Given the description of an element on the screen output the (x, y) to click on. 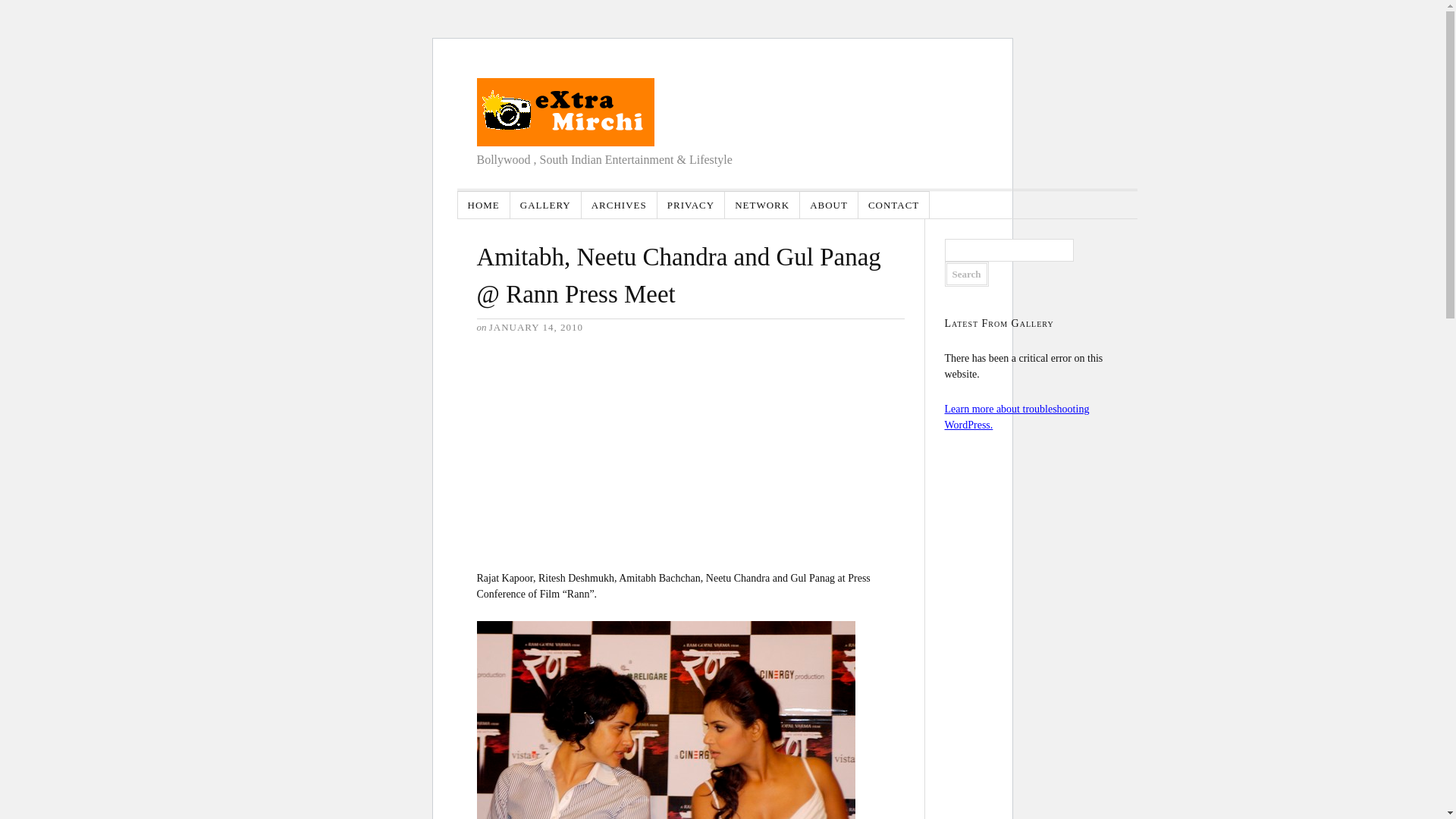
2010-01-14 (536, 326)
ARCHIVES (619, 204)
HOME (484, 204)
Advertisement (589, 450)
visit the home page (564, 111)
GALLERY (545, 204)
